Given the description of an element on the screen output the (x, y) to click on. 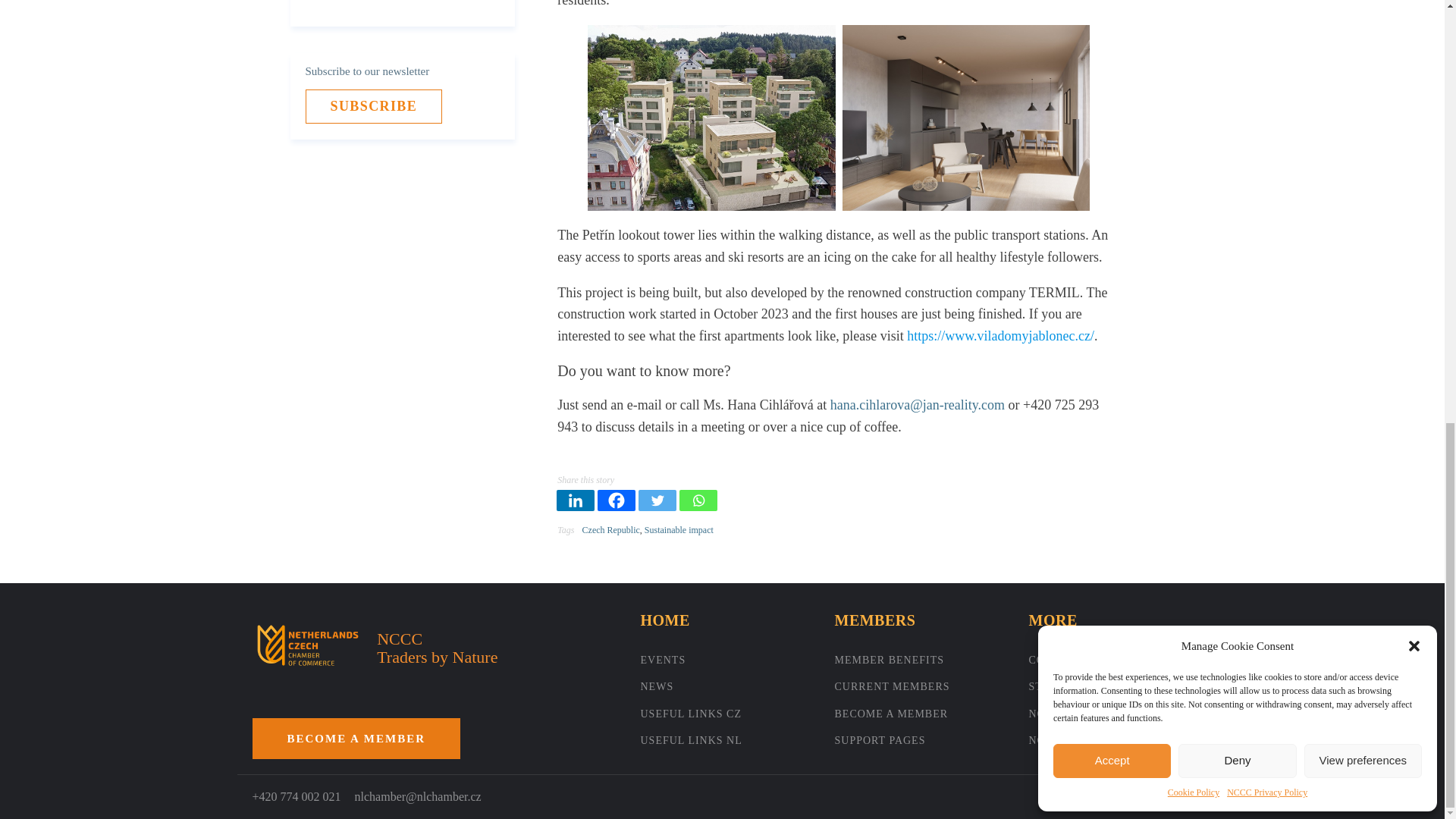
Facebook (615, 500)
Whatsapp (698, 500)
Twitter (658, 500)
Linkedin (575, 500)
